Given the description of an element on the screen output the (x, y) to click on. 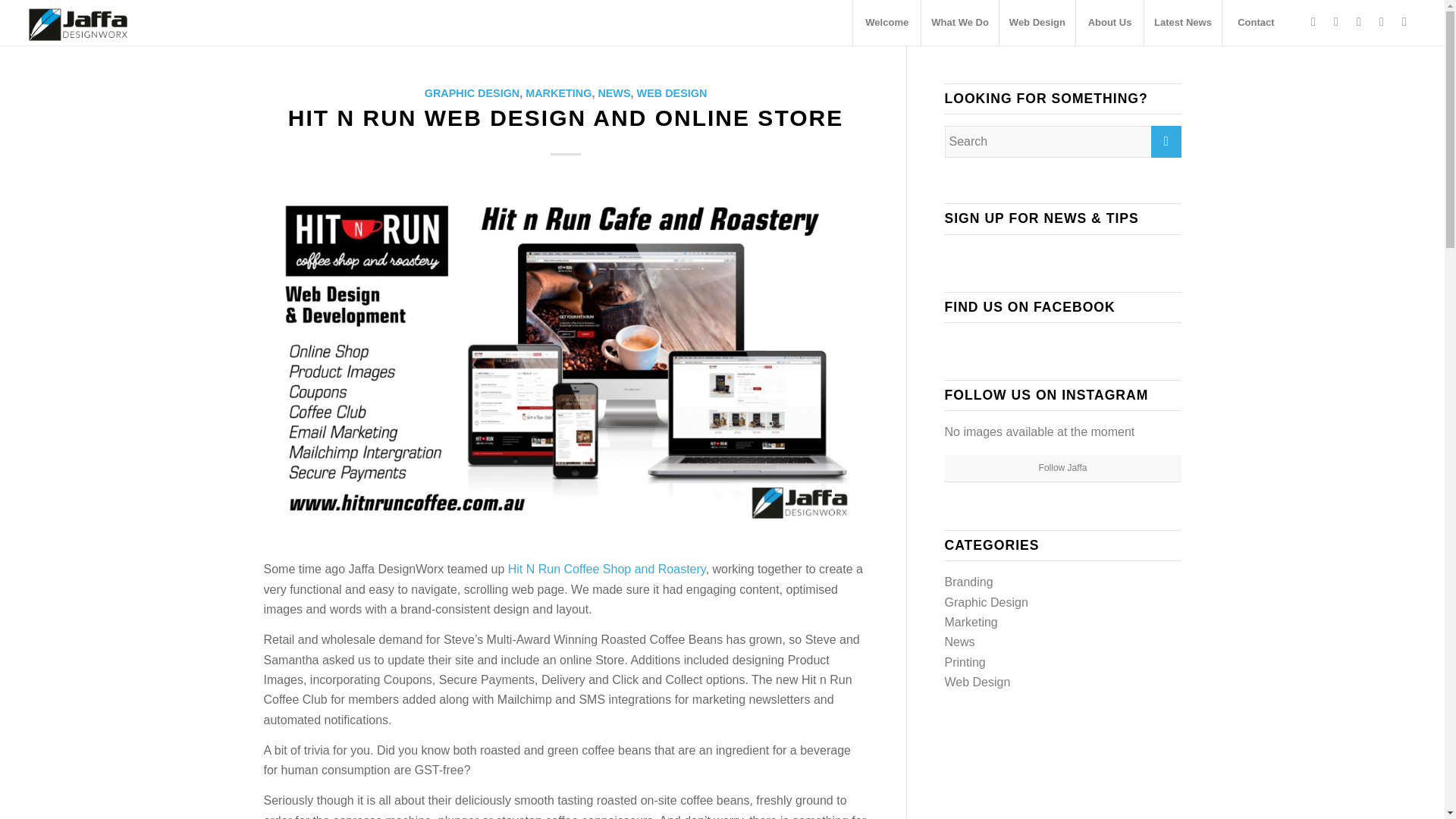
Branding (968, 581)
Instagram (1336, 21)
What We Do (959, 22)
Permanent Link: Hit n Run Web Design and Online Store (565, 117)
Contact (1255, 22)
About Us (1108, 22)
Printing (964, 662)
NEWS (613, 92)
Web Design (1036, 22)
WEB DESIGN (672, 92)
